Given the description of an element on the screen output the (x, y) to click on. 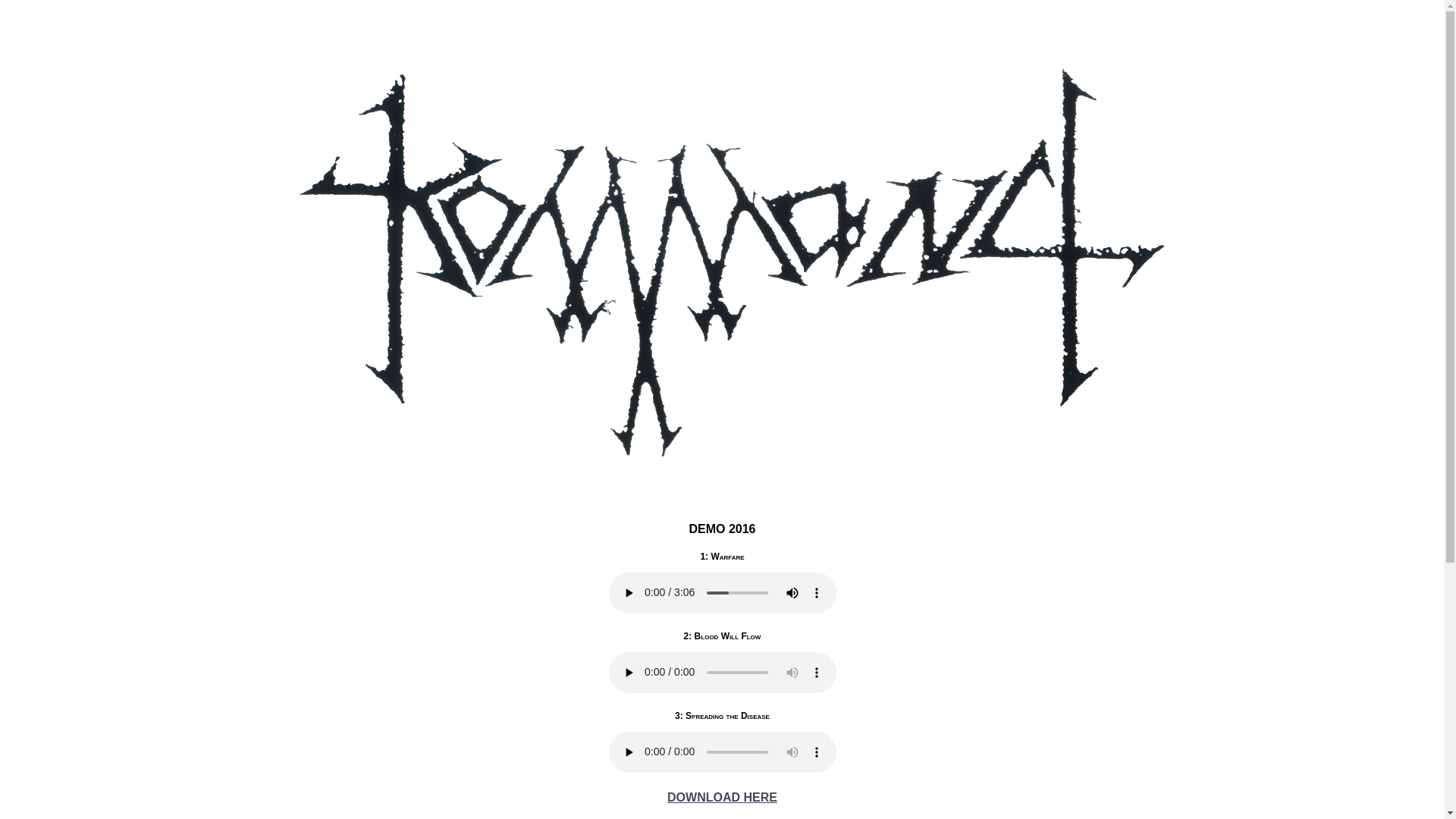
DOWNLOAD HERE Element type: text (722, 796)
